Given the description of an element on the screen output the (x, y) to click on. 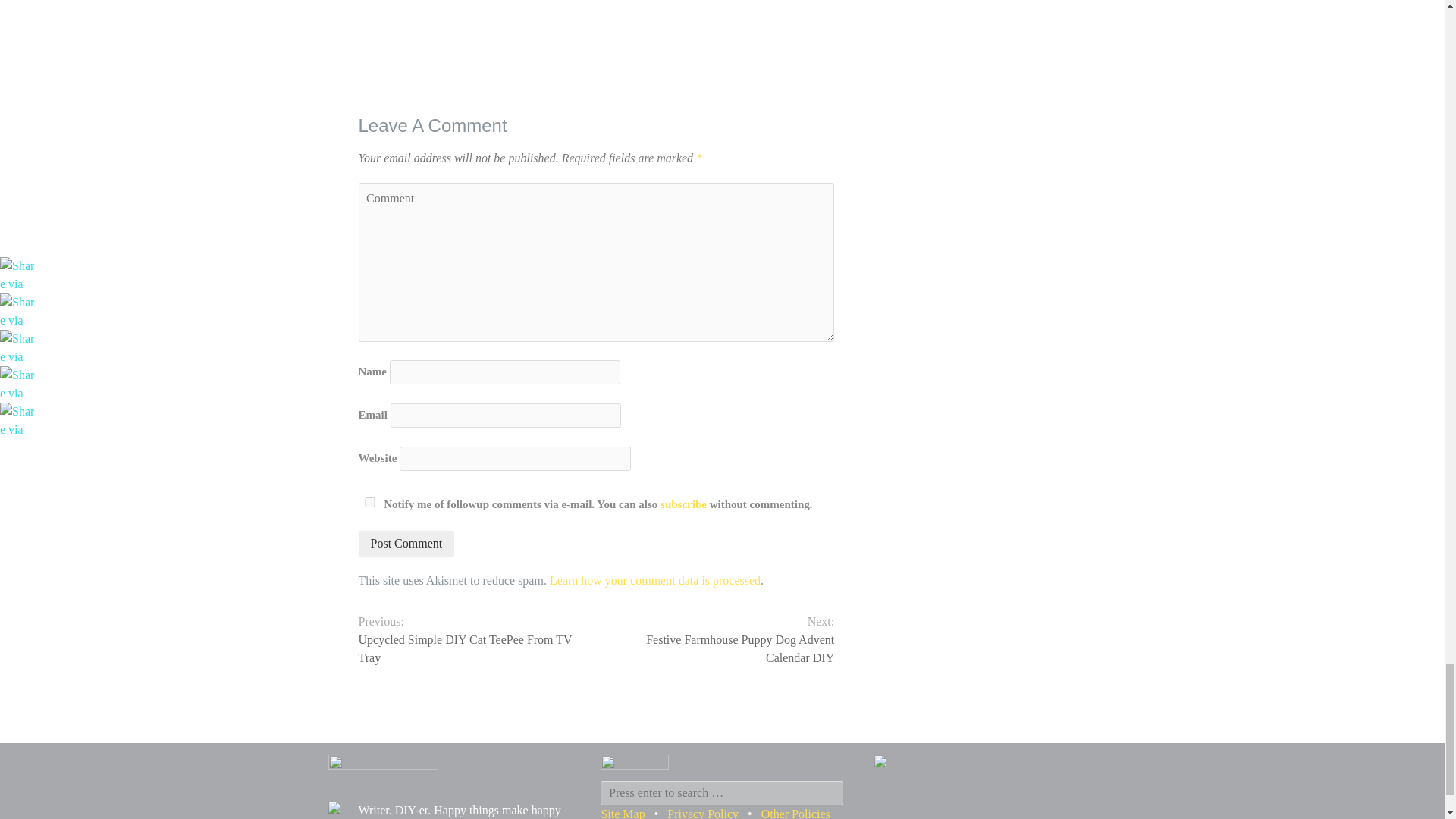
Post Comment (406, 543)
Search for: (721, 793)
yes (369, 501)
